Given the description of an element on the screen output the (x, y) to click on. 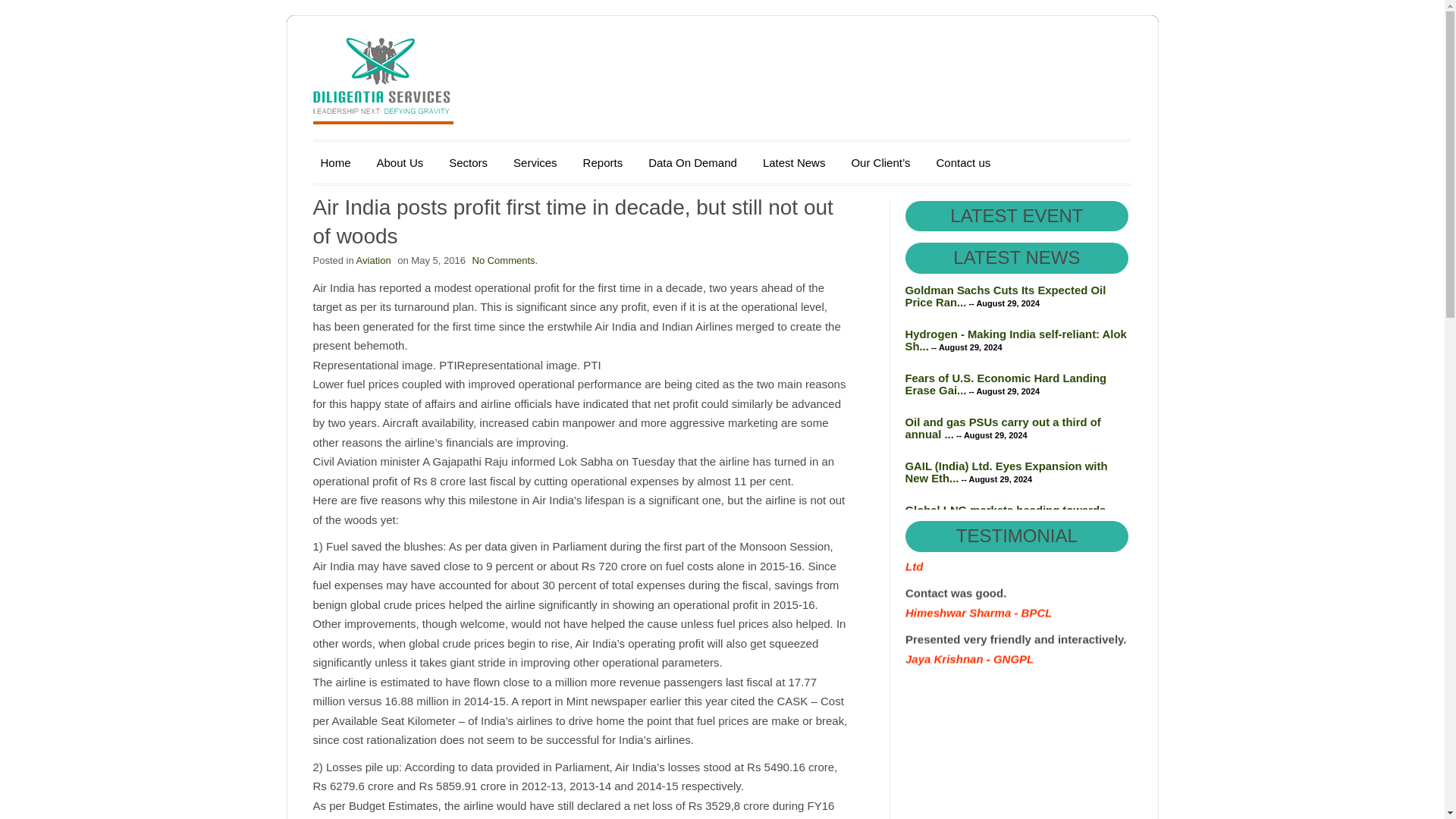
Latest News (793, 162)
Data On Demand (692, 162)
Contact us (963, 162)
Aviation (373, 260)
Sectors (468, 162)
About Us (399, 162)
No Comments. (504, 260)
Services (534, 162)
Reports (602, 162)
Home (335, 162)
